Given the description of an element on the screen output the (x, y) to click on. 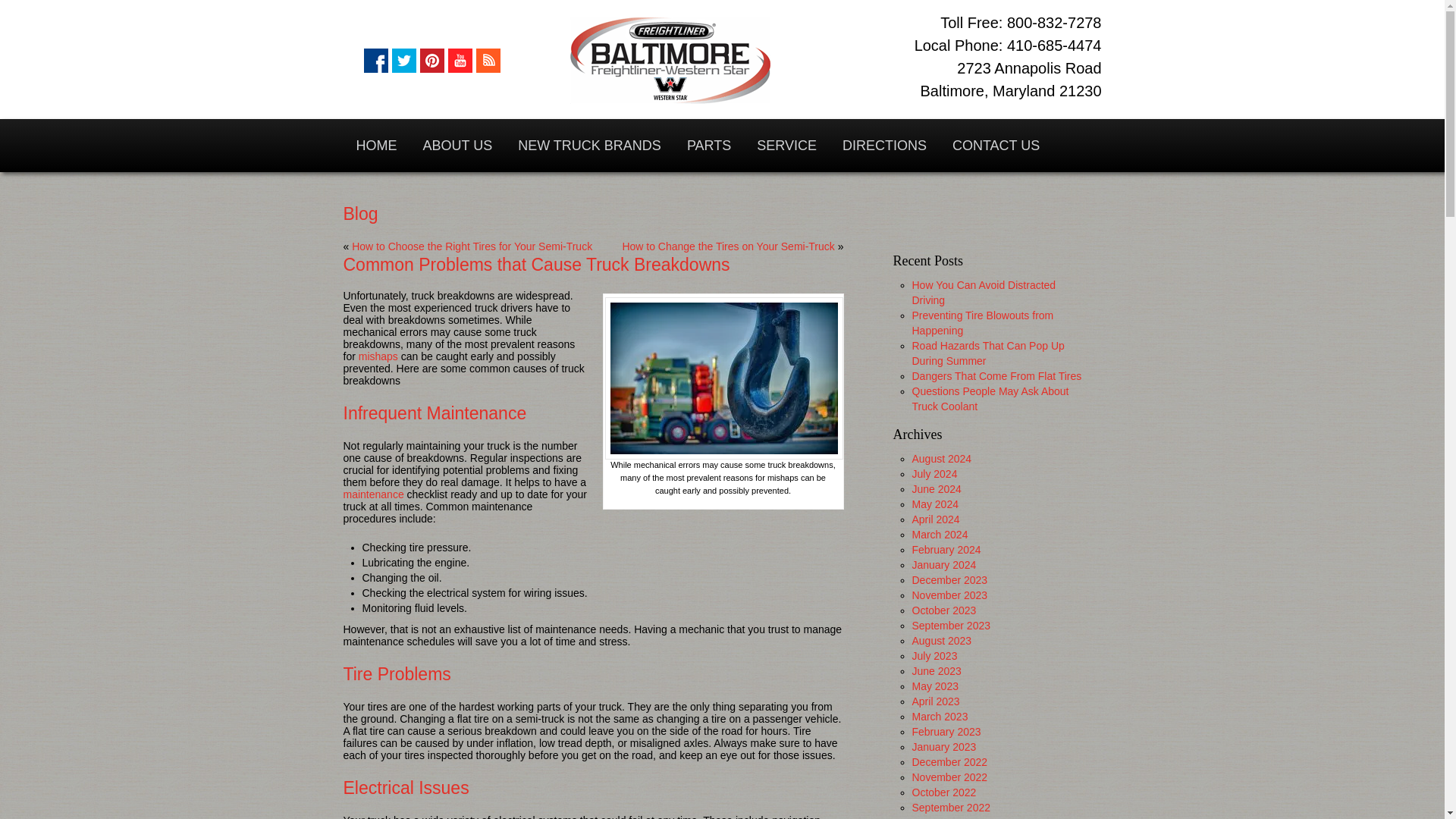
ABOUT US (457, 144)
Follow us on YouTube (458, 60)
mishaps (377, 356)
Subscribe to our Blog (488, 60)
How to Change the Tires on Your Semi-Truck (727, 246)
Back to the home page (670, 60)
Follow us on Pinterest (432, 60)
maintenance (372, 494)
NEW TRUCK BRANDS (589, 144)
SERVICE (786, 144)
CONTACT US (995, 144)
PARTS (709, 144)
How to Choose the Right Tires for Your Semi-Truck (472, 246)
Follow us on Facebook (376, 60)
HOME (375, 144)
